Given the description of an element on the screen output the (x, y) to click on. 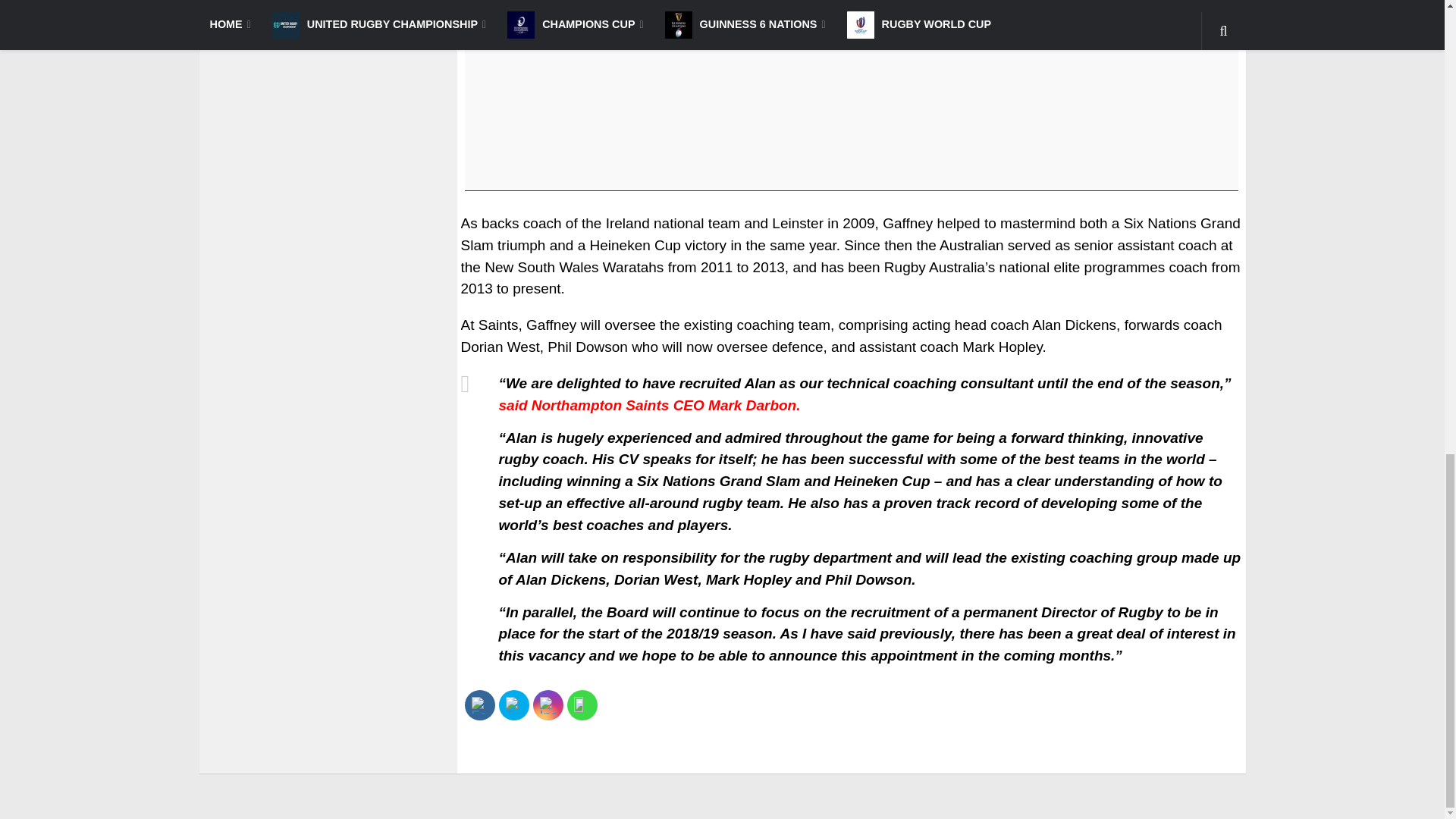
Twitter (513, 704)
Facebook (479, 704)
Instagram (548, 704)
